Given the description of an element on the screen output the (x, y) to click on. 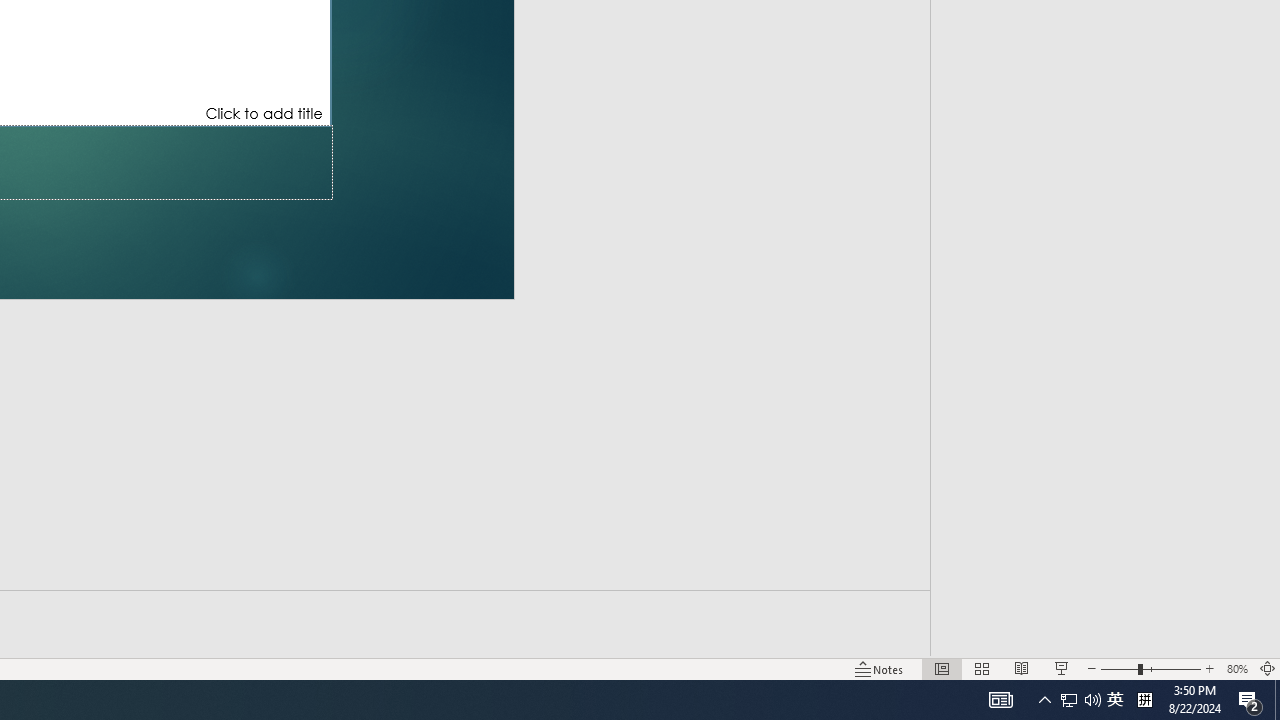
Zoom 80% (1236, 668)
